Given the description of an element on the screen output the (x, y) to click on. 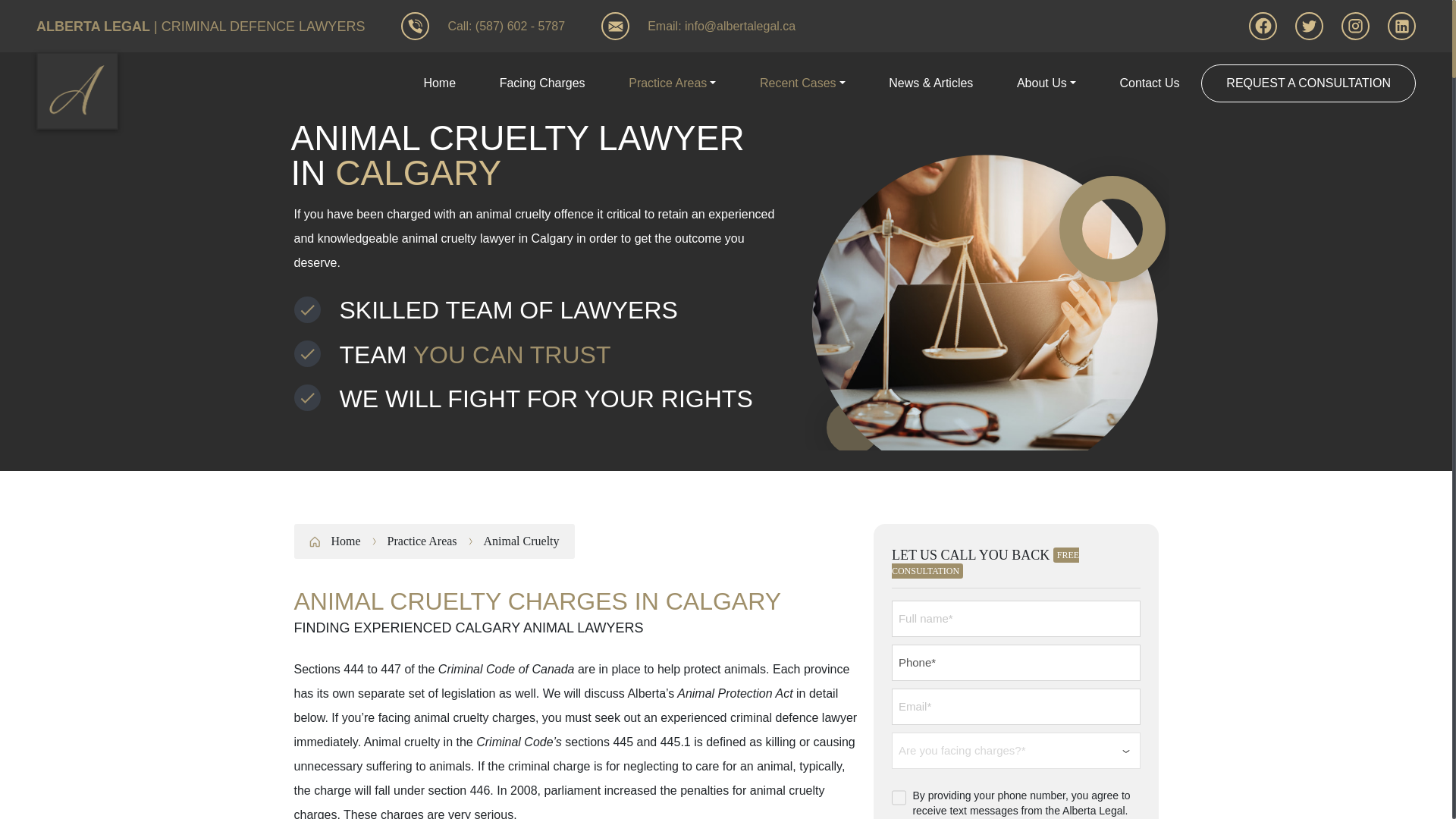
Home (439, 83)
Practice Areas (672, 83)
Recent Cases (802, 83)
Facing Charges (542, 83)
1 (899, 797)
